Given the description of an element on the screen output the (x, y) to click on. 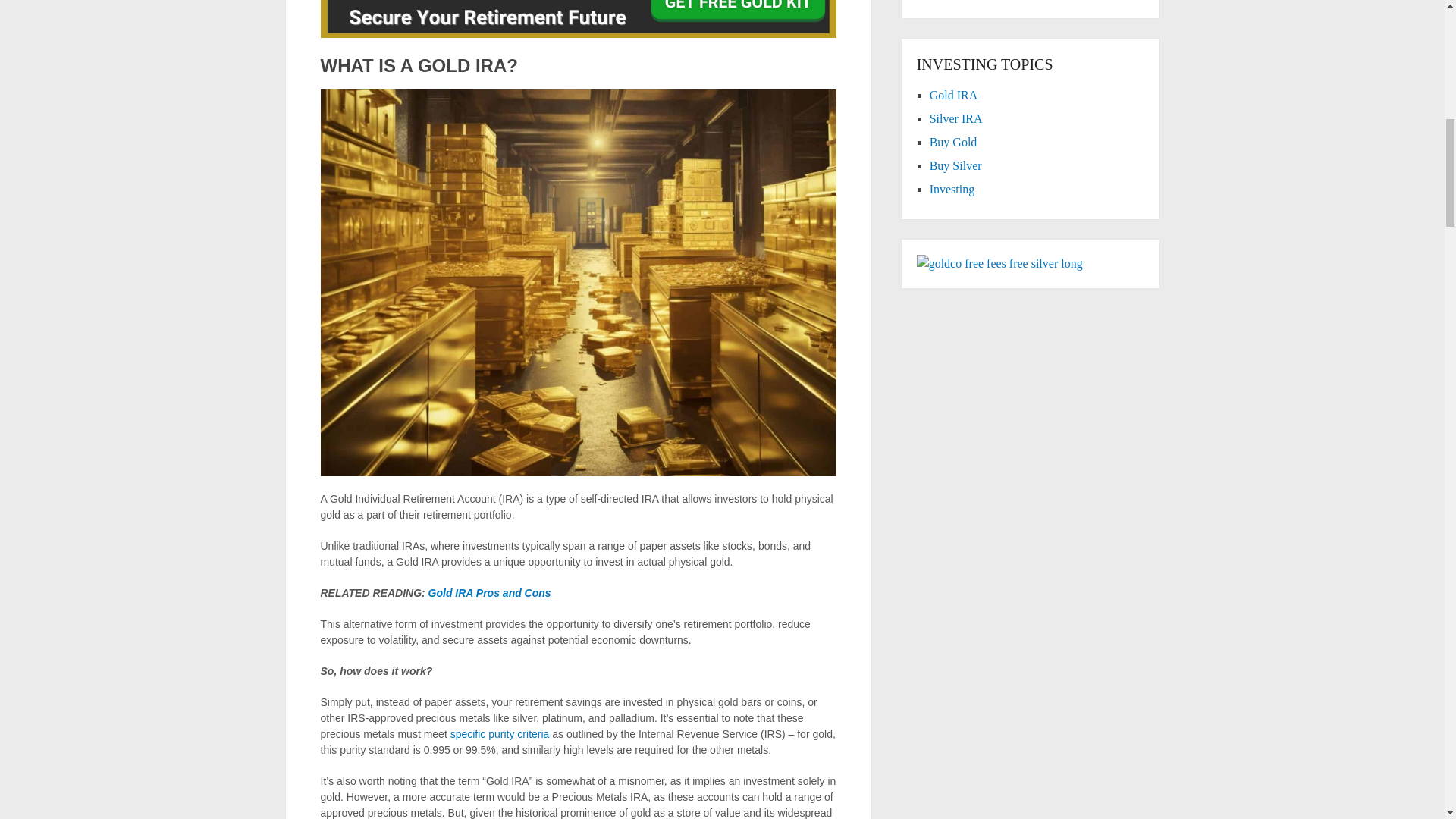
Buy Silver (955, 164)
Buy Gold (953, 141)
Gold IRA Pros and Cons (489, 592)
Gold IRA (954, 94)
Silver IRA (956, 118)
specific purity criteria (499, 734)
Investing (952, 188)
